Given the description of an element on the screen output the (x, y) to click on. 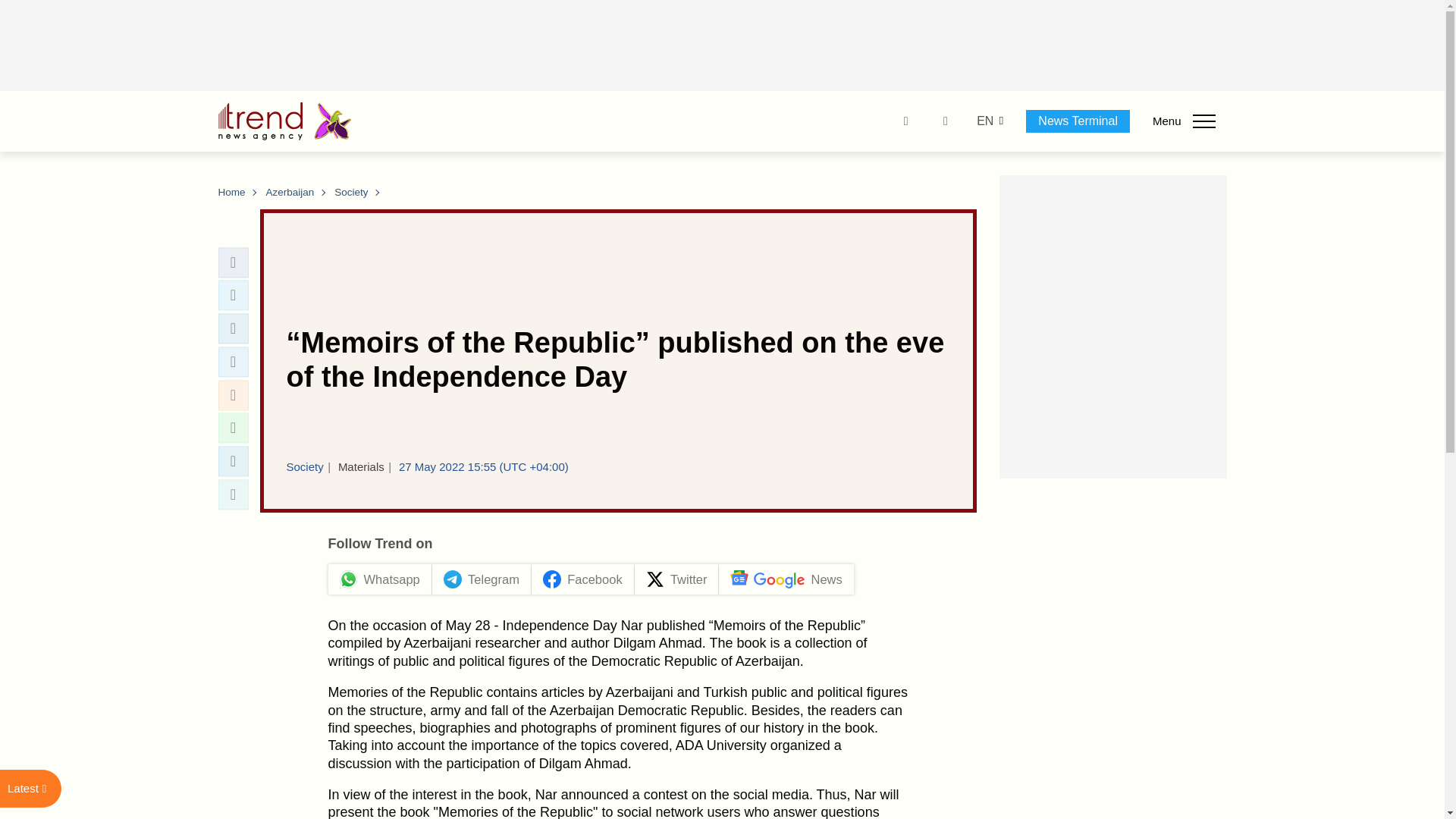
English (984, 121)
News Terminal (1077, 120)
EN (984, 121)
